Given the description of an element on the screen output the (x, y) to click on. 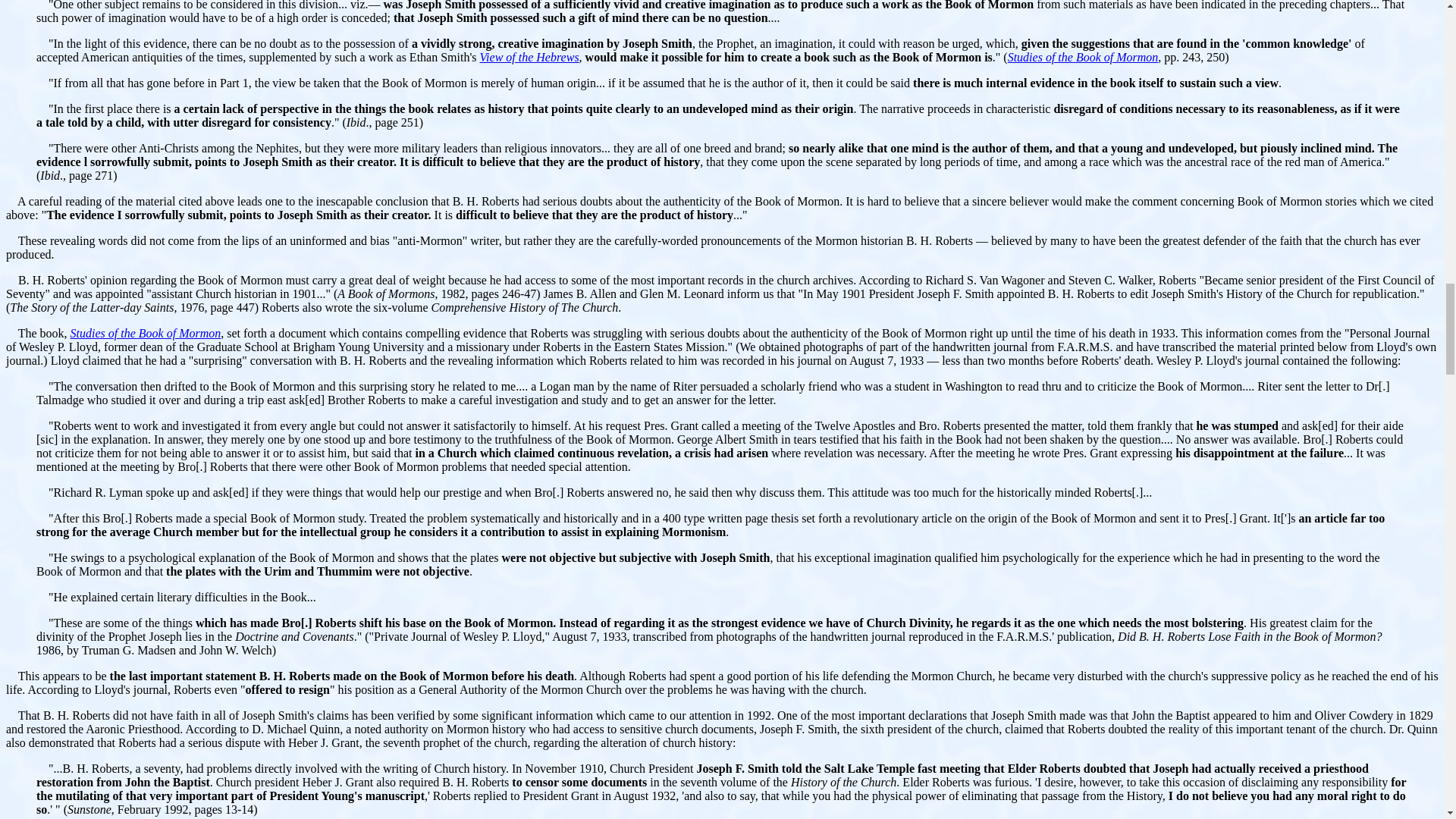
View of the Hebrews (529, 56)
Studies of the Book of Mormon (1082, 56)
Studies of the Book of Mormon (145, 332)
